Given the description of an element on the screen output the (x, y) to click on. 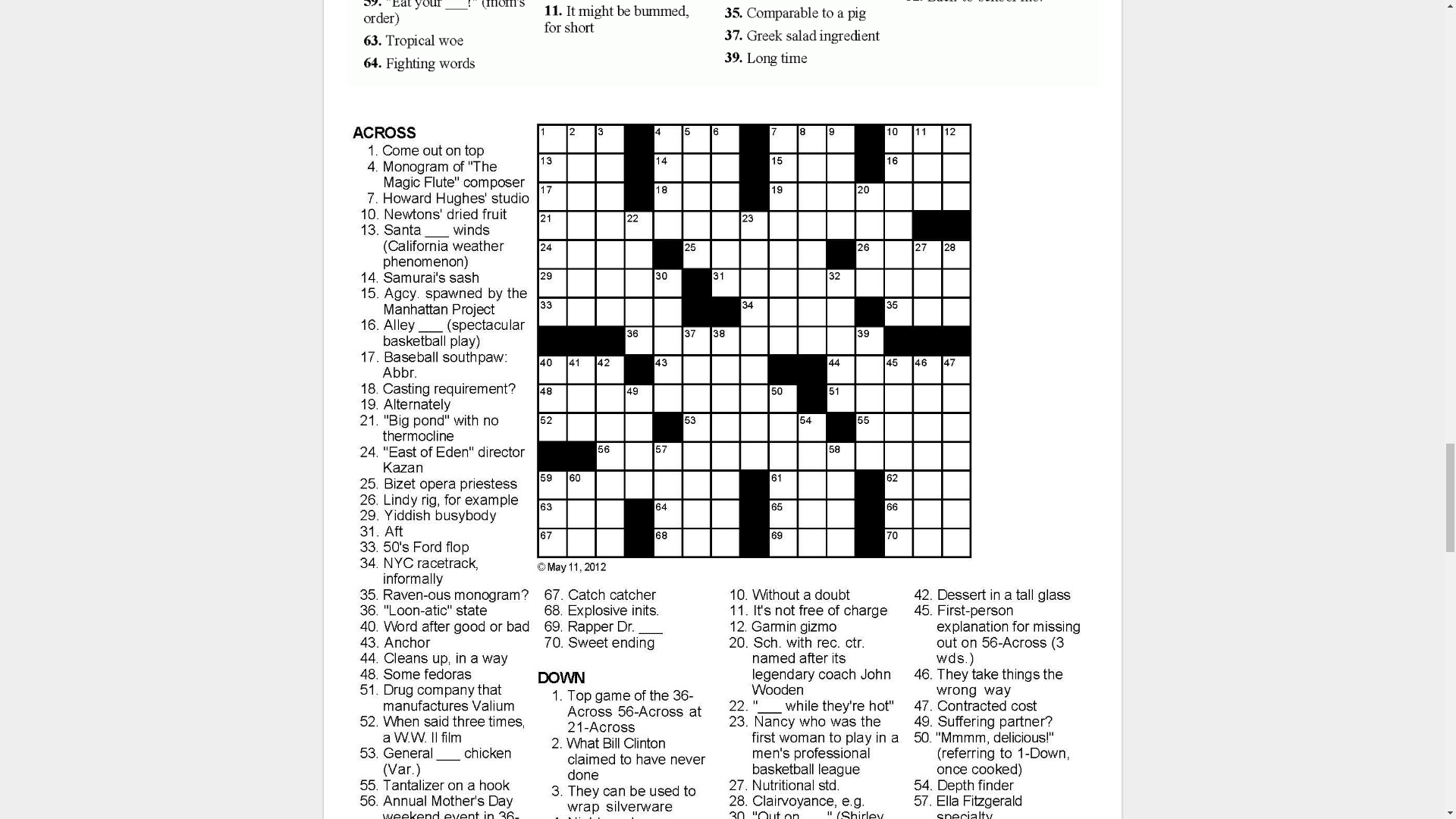
free printable themed crossword puzzles scaled (721, 50)
